Given the description of an element on the screen output the (x, y) to click on. 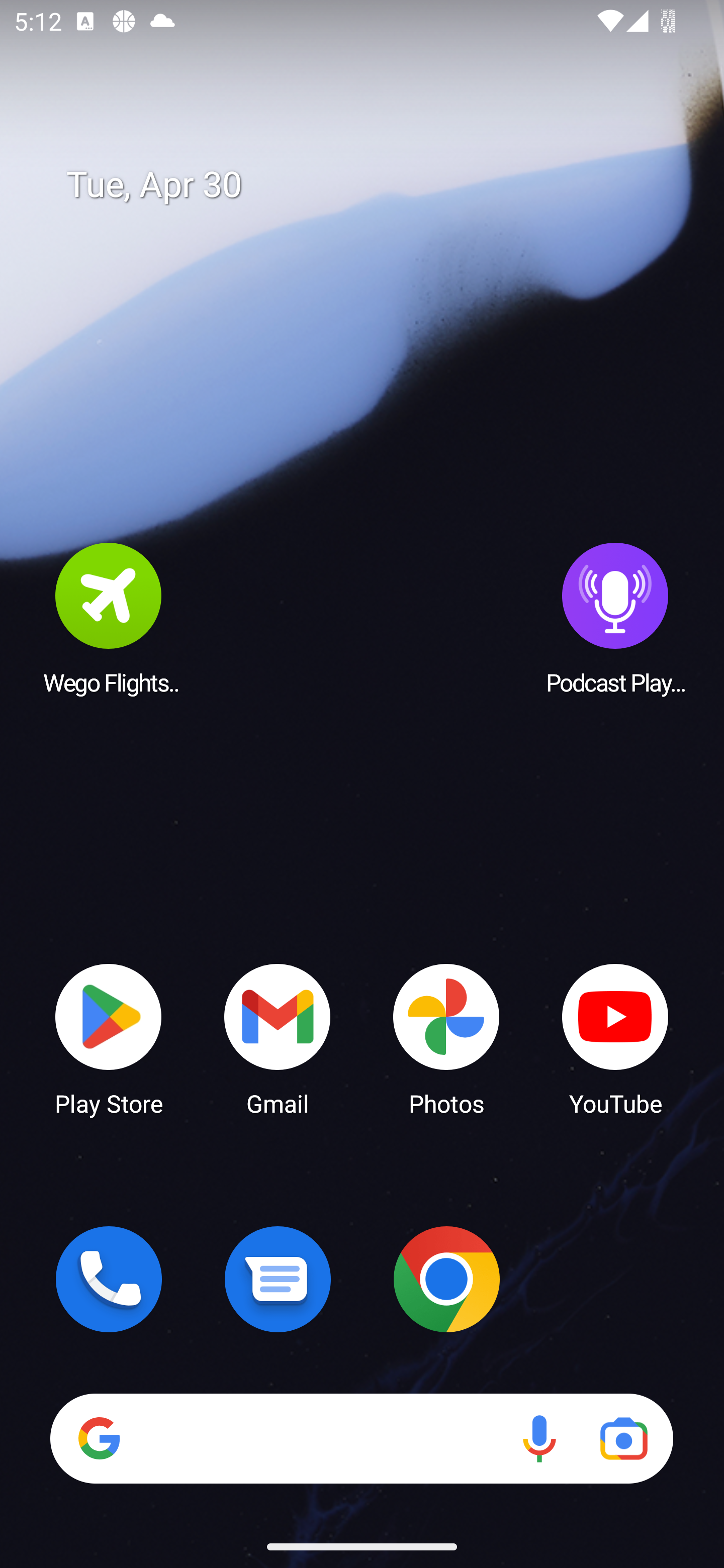
Tue, Apr 30 (375, 184)
Wego Flights & Hotels (108, 617)
Podcast Player (615, 617)
Play Store (108, 1038)
Gmail (277, 1038)
Photos (445, 1038)
YouTube (615, 1038)
Phone (108, 1279)
Messages (277, 1279)
Chrome (446, 1279)
Voice search (539, 1438)
Google Lens (623, 1438)
